Given the description of an element on the screen output the (x, y) to click on. 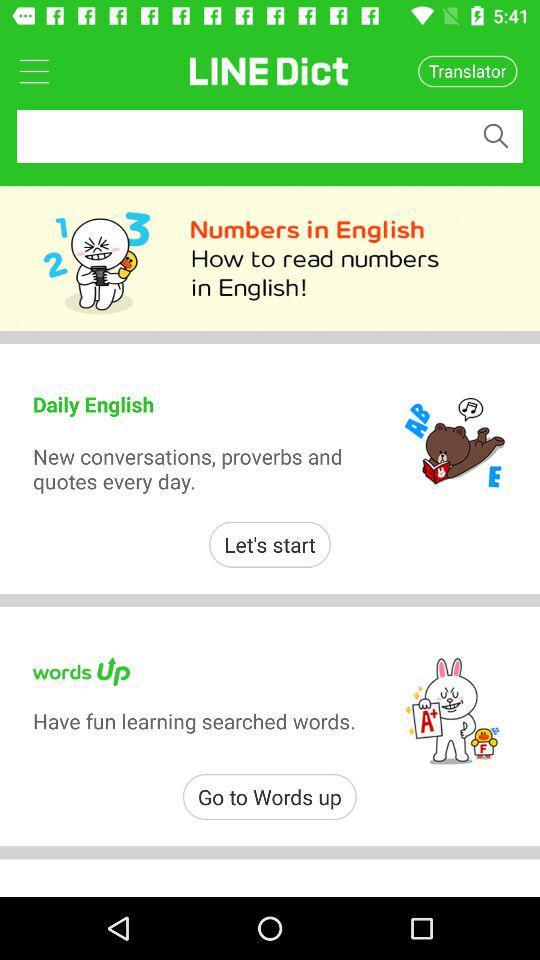
click icon above the let's start item (197, 468)
